Given the description of an element on the screen output the (x, y) to click on. 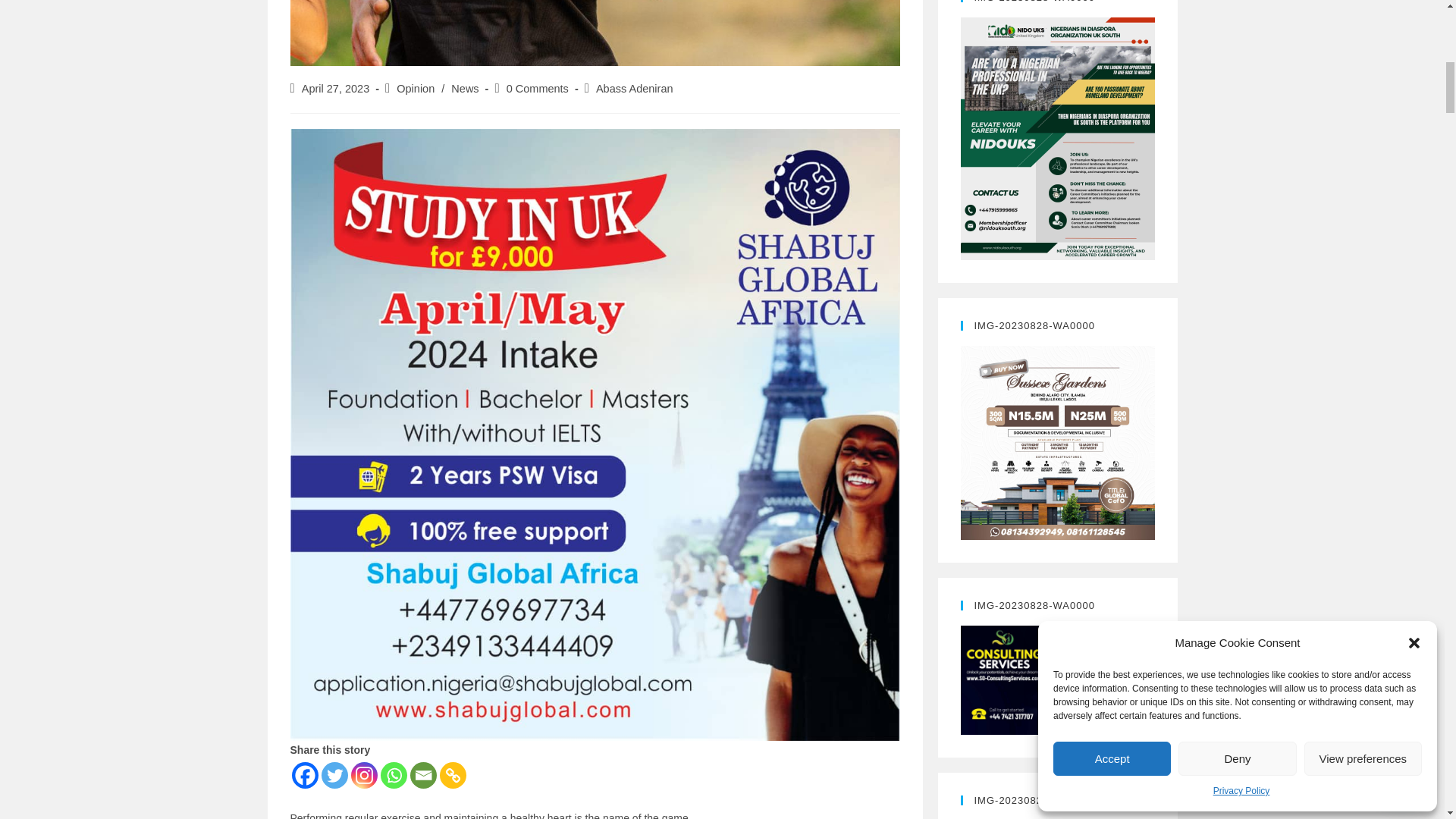
Instagram (363, 775)
Whatsapp (393, 775)
Twitter (334, 775)
Facebook (304, 775)
Copy Link (452, 775)
Posts by Abass Adeniran (633, 88)
Email (422, 775)
